Given the description of an element on the screen output the (x, y) to click on. 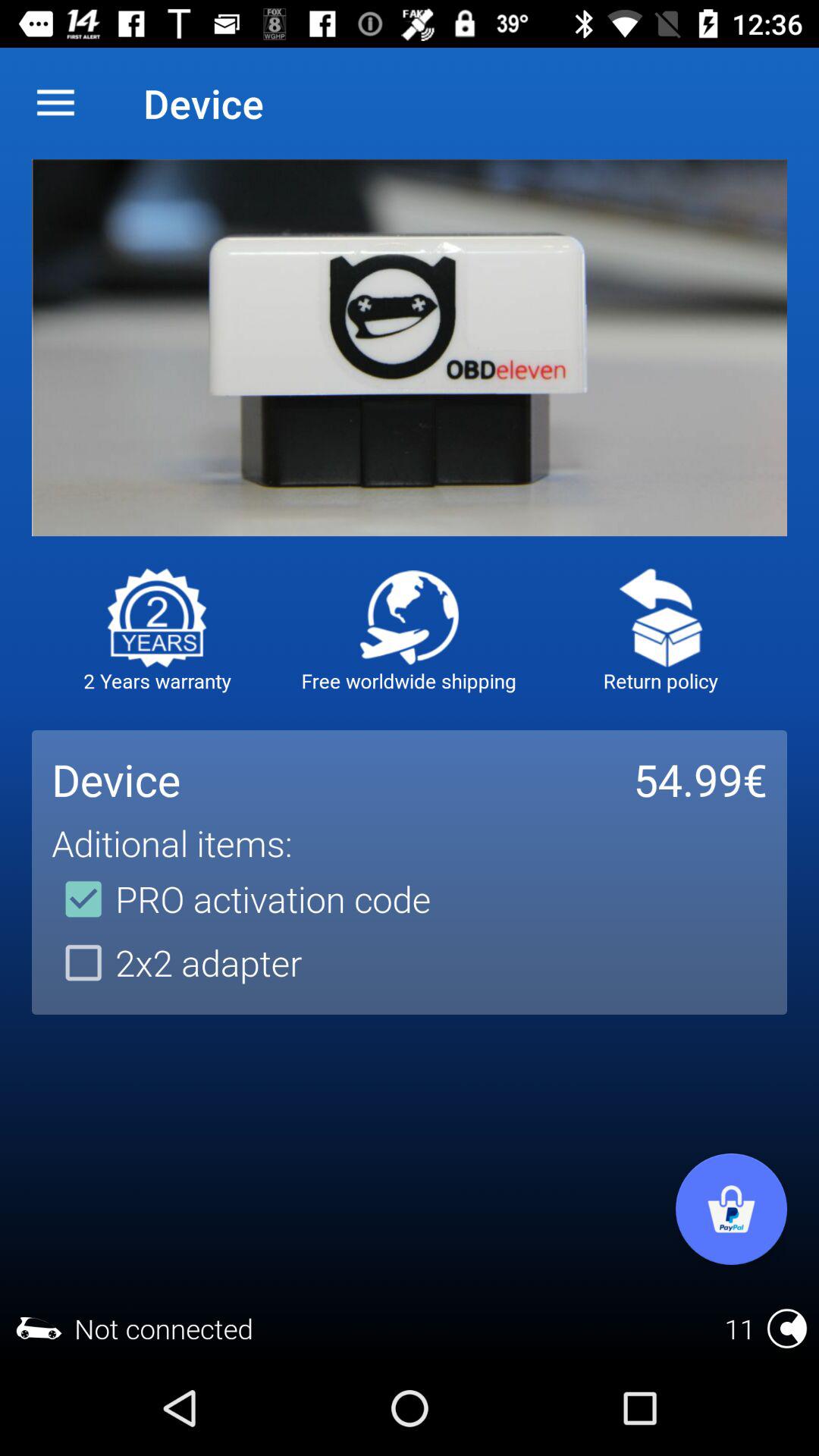
flip to the pro activation code (241, 899)
